Given the description of an element on the screen output the (x, y) to click on. 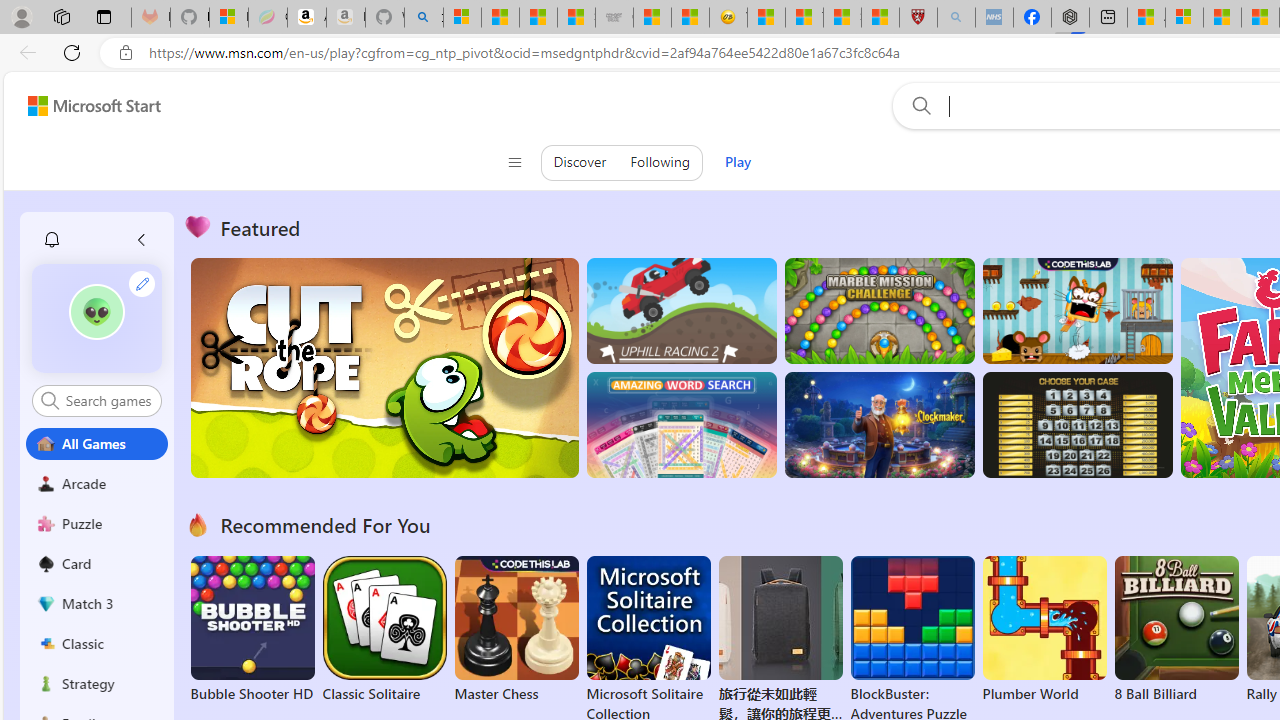
""'s avatar (97, 318)
Classic Solitaire (384, 629)
""'s avatar (96, 312)
